Given the description of an element on the screen output the (x, y) to click on. 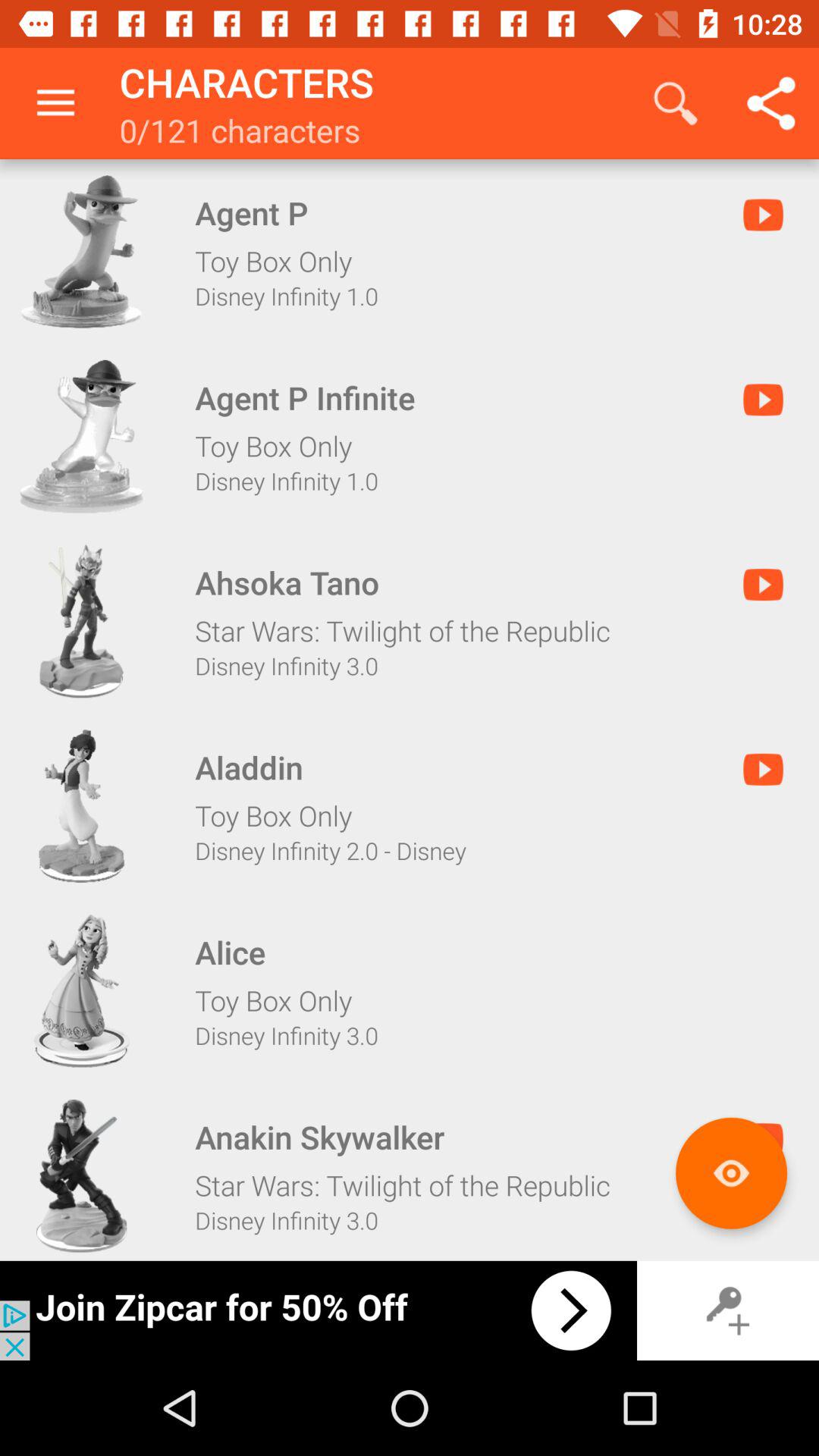
click here to preview (731, 1173)
